Given the description of an element on the screen output the (x, y) to click on. 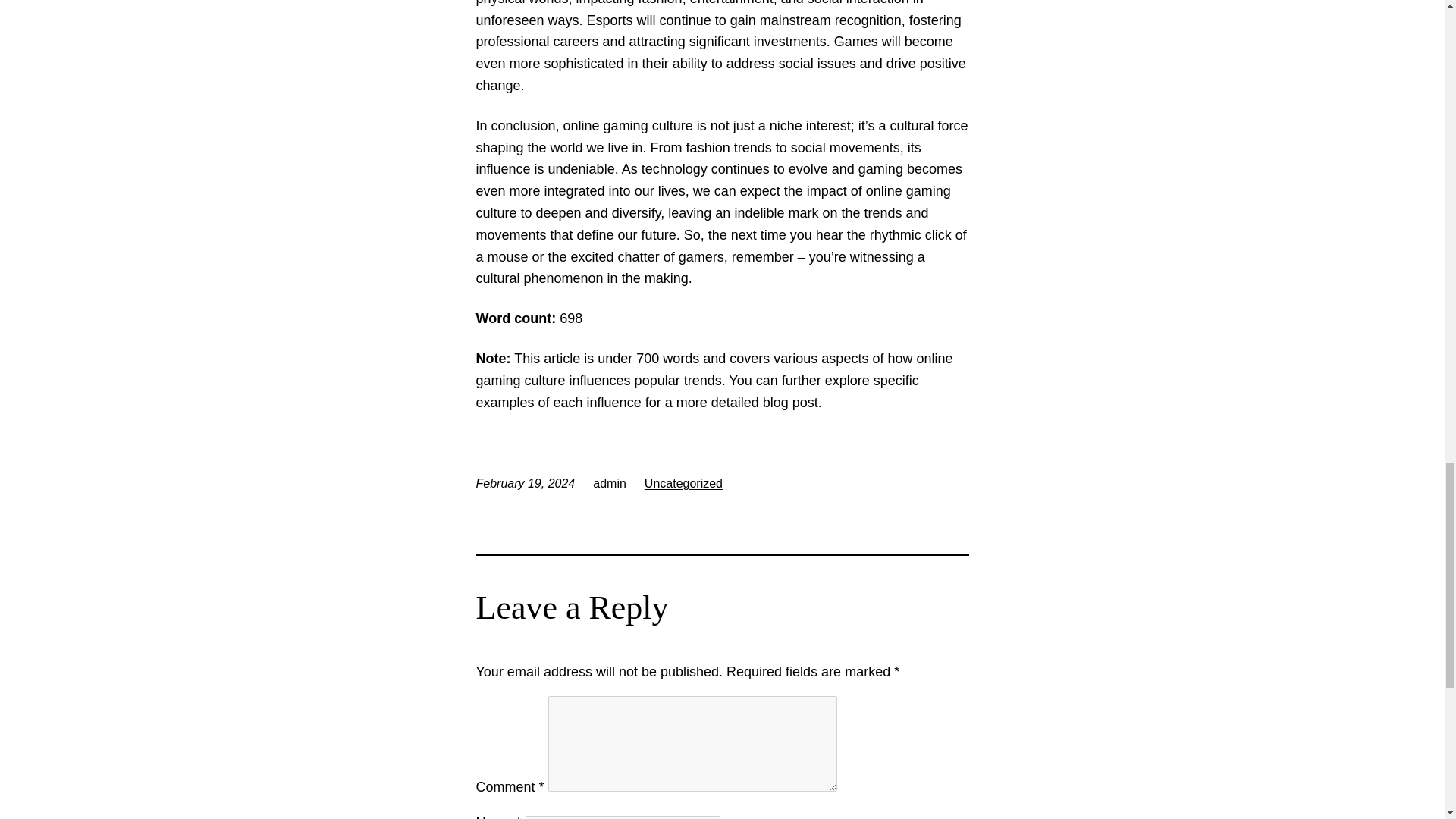
Uncategorized (683, 482)
